Given the description of an element on the screen output the (x, y) to click on. 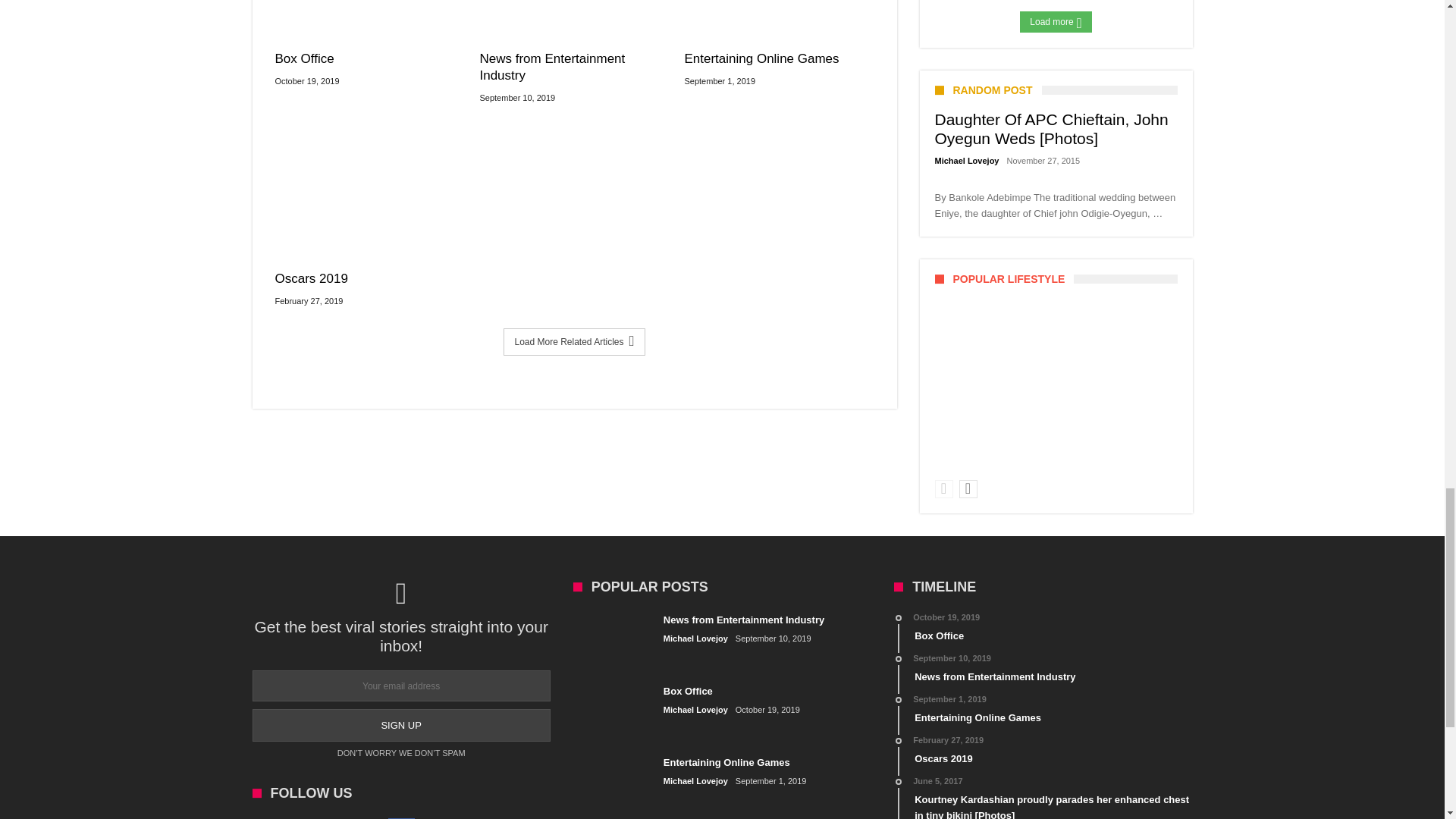
Posts by Michael Lovejoy (695, 781)
Posts by Michael Lovejoy (695, 709)
Box Office (369, 58)
Posts by Michael Lovejoy (966, 161)
Posts by Michael Lovejoy (695, 638)
News from Entertainment Industry (573, 67)
Sign up (400, 725)
